Given the description of an element on the screen output the (x, y) to click on. 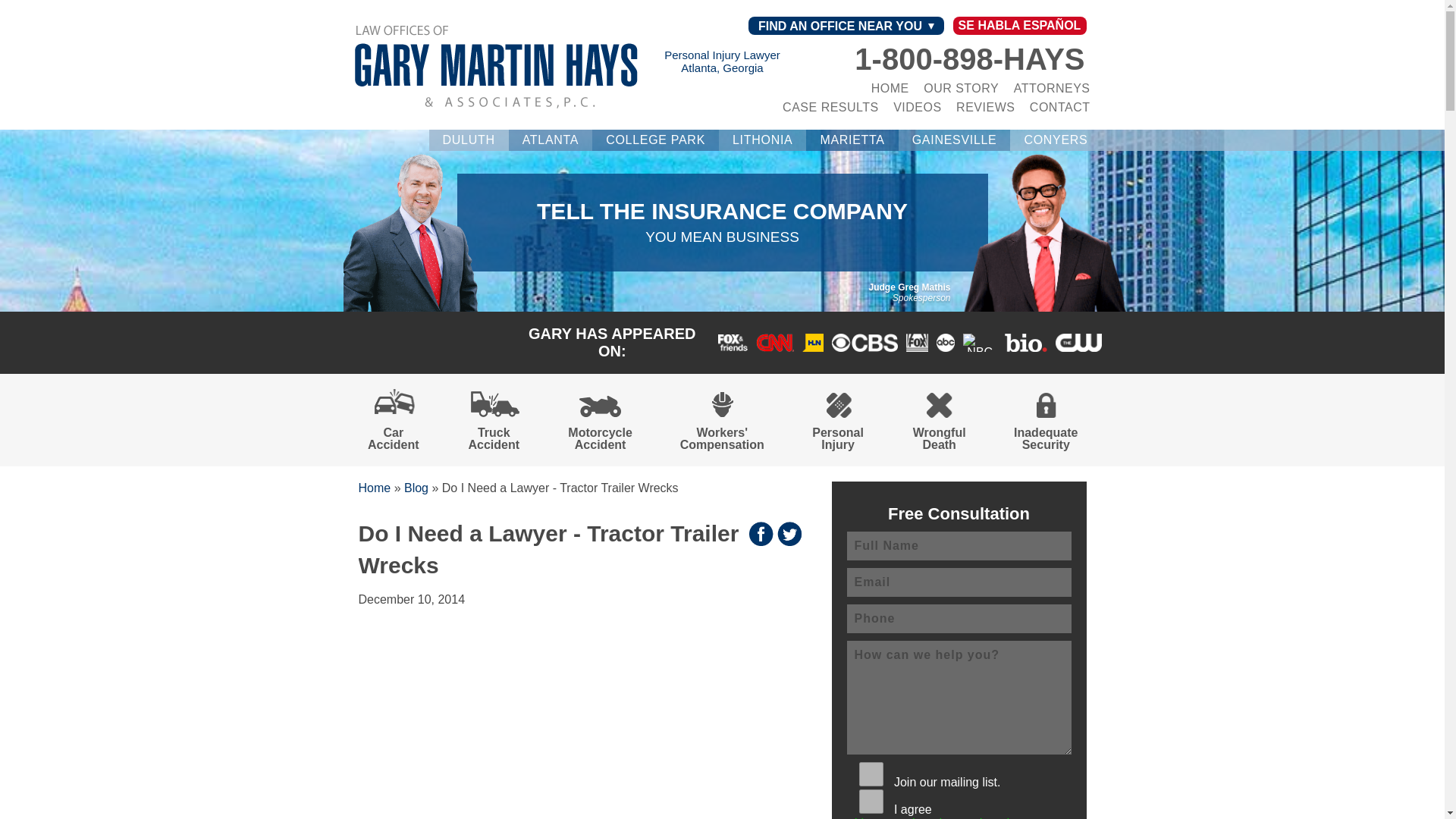
CASE RESULTS (831, 106)
CONTACT (1059, 106)
OUR STORY (960, 88)
LITHONIA (762, 139)
I agree (870, 801)
VIDEOS (916, 106)
GAINESVILLE (954, 139)
DULUTH (468, 139)
HOME (889, 88)
MARIETTA (852, 139)
Motorcycle Accident (600, 423)
FIND AN OFFICE NEAR YOU (845, 25)
COLLEGE PARK (655, 139)
Car Accident (393, 423)
ATTORNEYS (1051, 88)
